Given the description of an element on the screen output the (x, y) to click on. 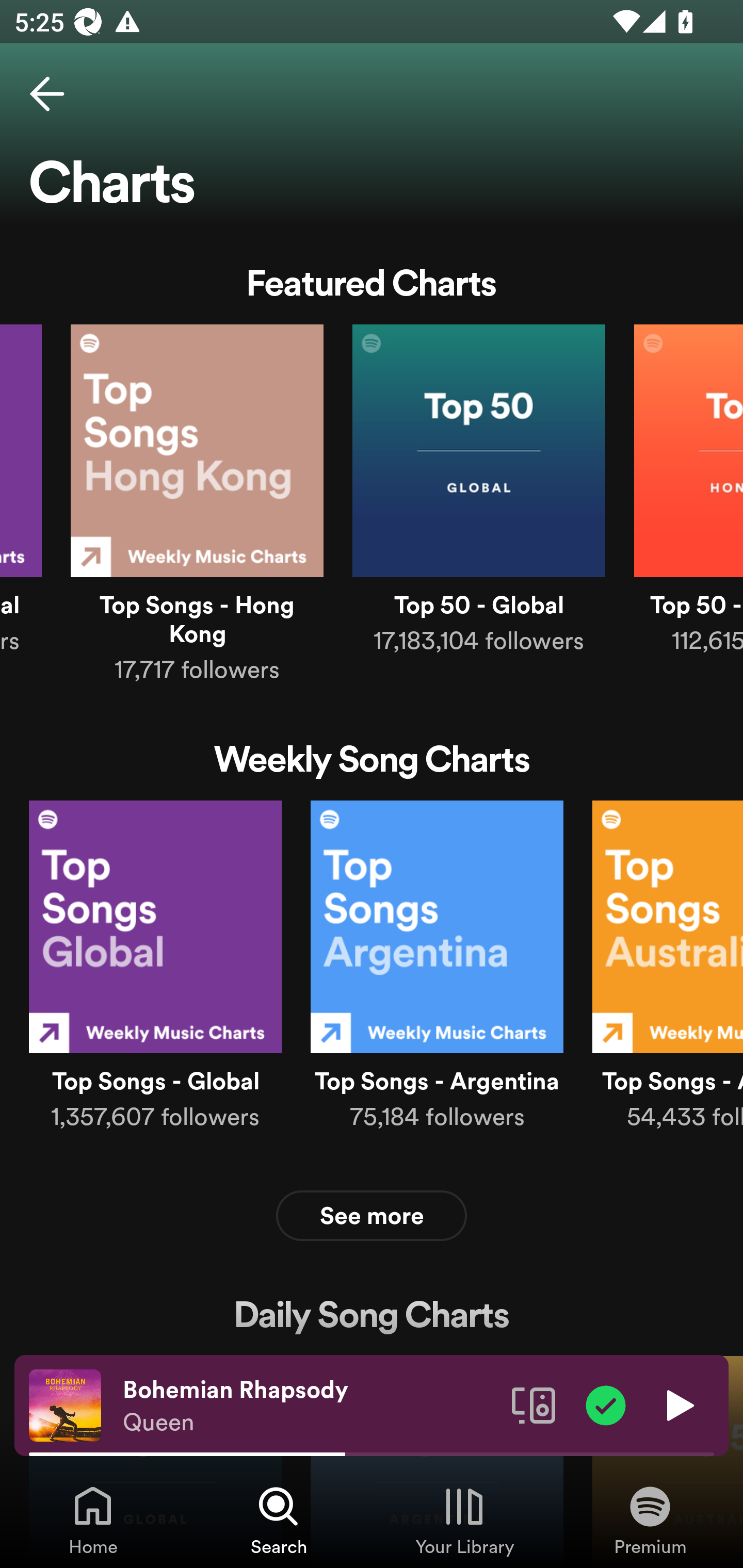
Back (46, 93)
See more (371, 1215)
Bohemian Rhapsody Queen (309, 1405)
The cover art of the currently playing track (64, 1404)
Connect to a device. Opens the devices menu (533, 1404)
Item added (605, 1404)
Play (677, 1404)
Home, Tab 1 of 4 Home Home (92, 1519)
Search, Tab 2 of 4 Search Search (278, 1519)
Your Library, Tab 3 of 4 Your Library Your Library (464, 1519)
Premium, Tab 4 of 4 Premium Premium (650, 1519)
